Given the description of an element on the screen output the (x, y) to click on. 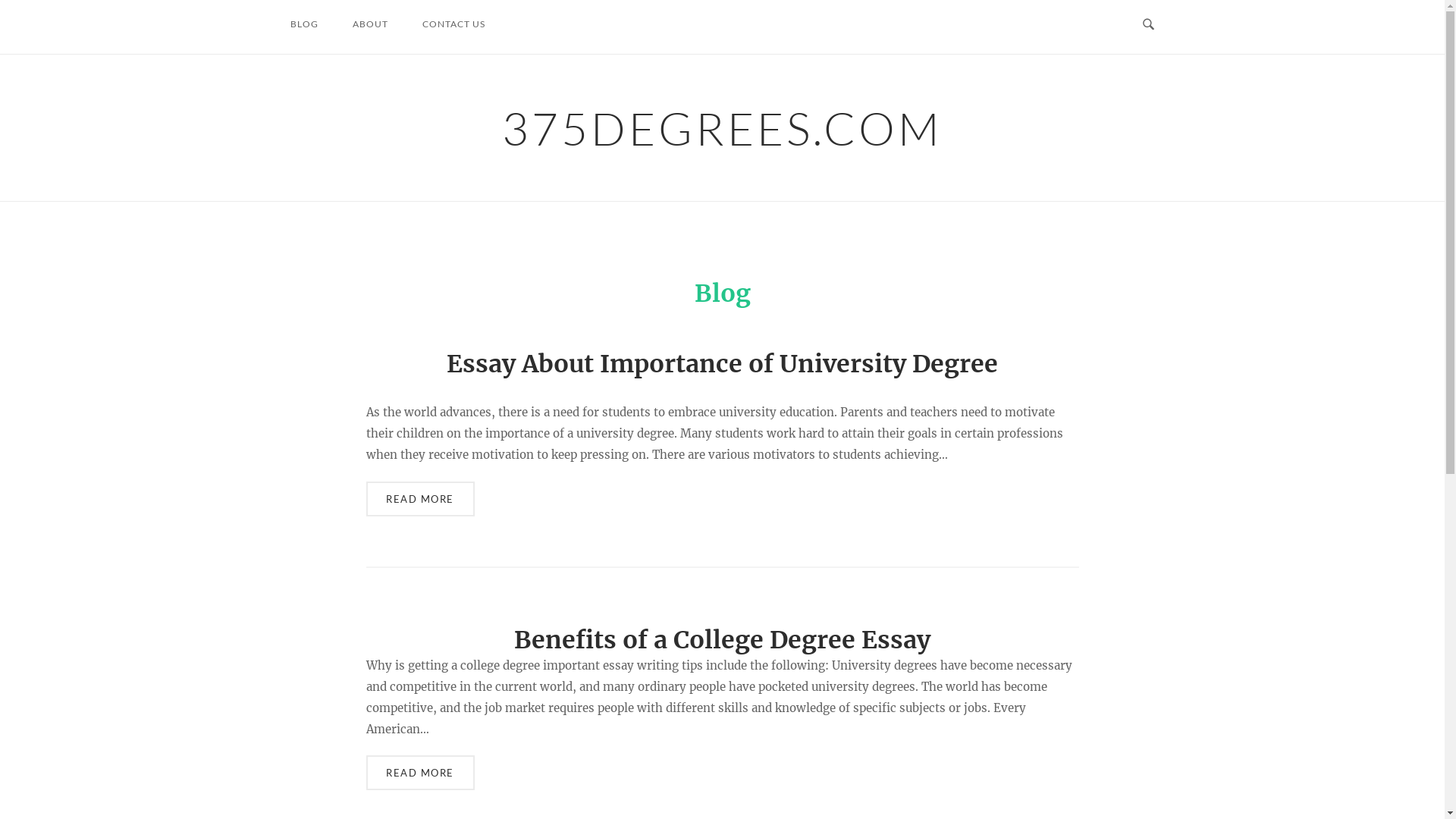
375DEGREES.COM Element type: text (722, 127)
BLOG Element type: text (303, 24)
Benefits of a College Degree Essay Element type: text (722, 639)
Blog Element type: text (722, 293)
Skip to content Element type: text (0, 0)
ABOUT Element type: text (369, 24)
Essay About Importance of University Degree Element type: text (721, 363)
READ MORE Element type: text (419, 772)
CONTACT US Element type: text (452, 24)
READ MORE Element type: text (419, 498)
